Given the description of an element on the screen output the (x, y) to click on. 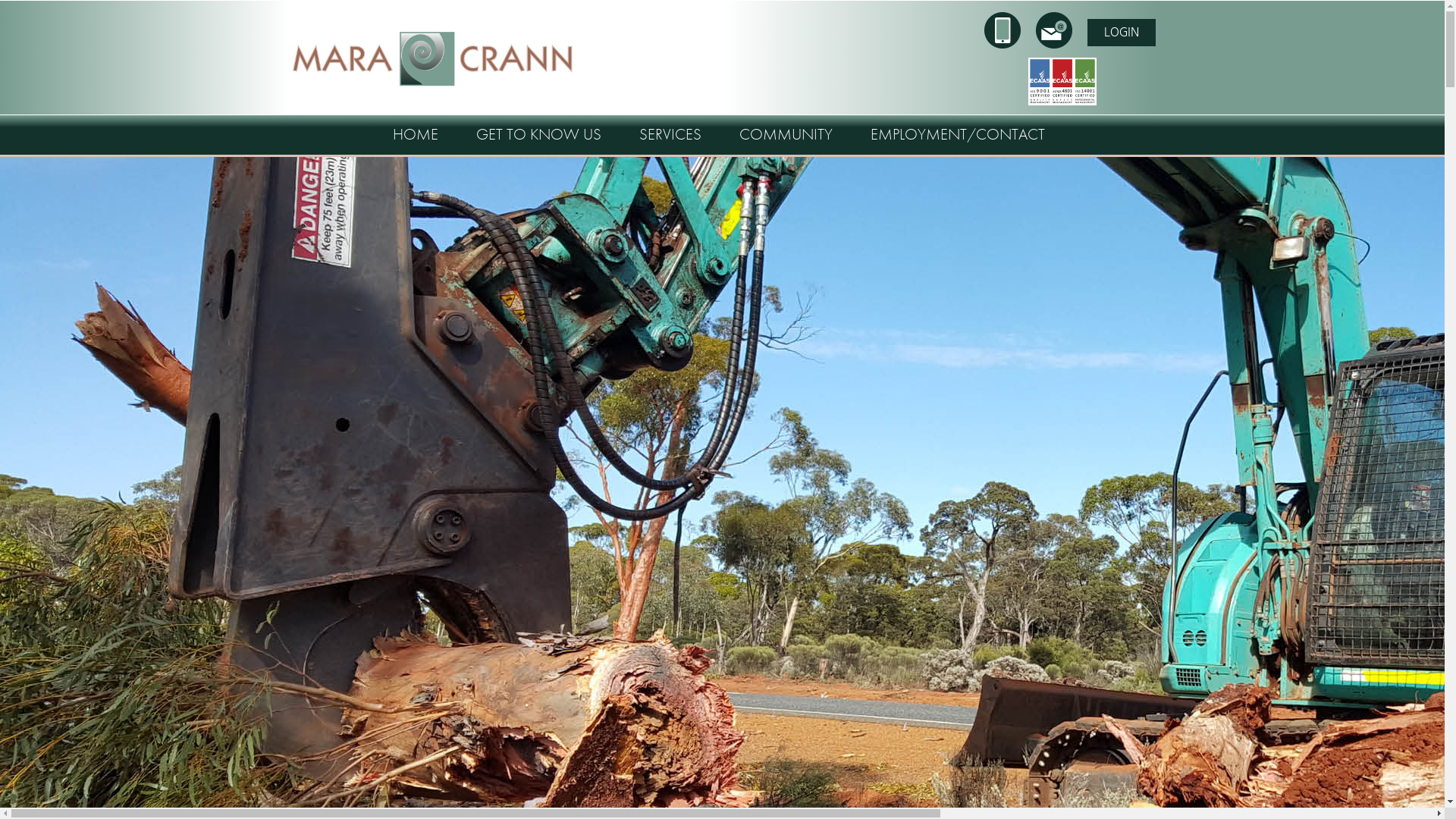
COMMUNITY Element type: text (784, 134)
HOME Element type: text (415, 134)
GET TO KNOW US Element type: text (538, 134)
EMPLOYMENT/CONTACT Element type: text (957, 134)
SERVICES Element type: text (669, 134)
